Given the description of an element on the screen output the (x, y) to click on. 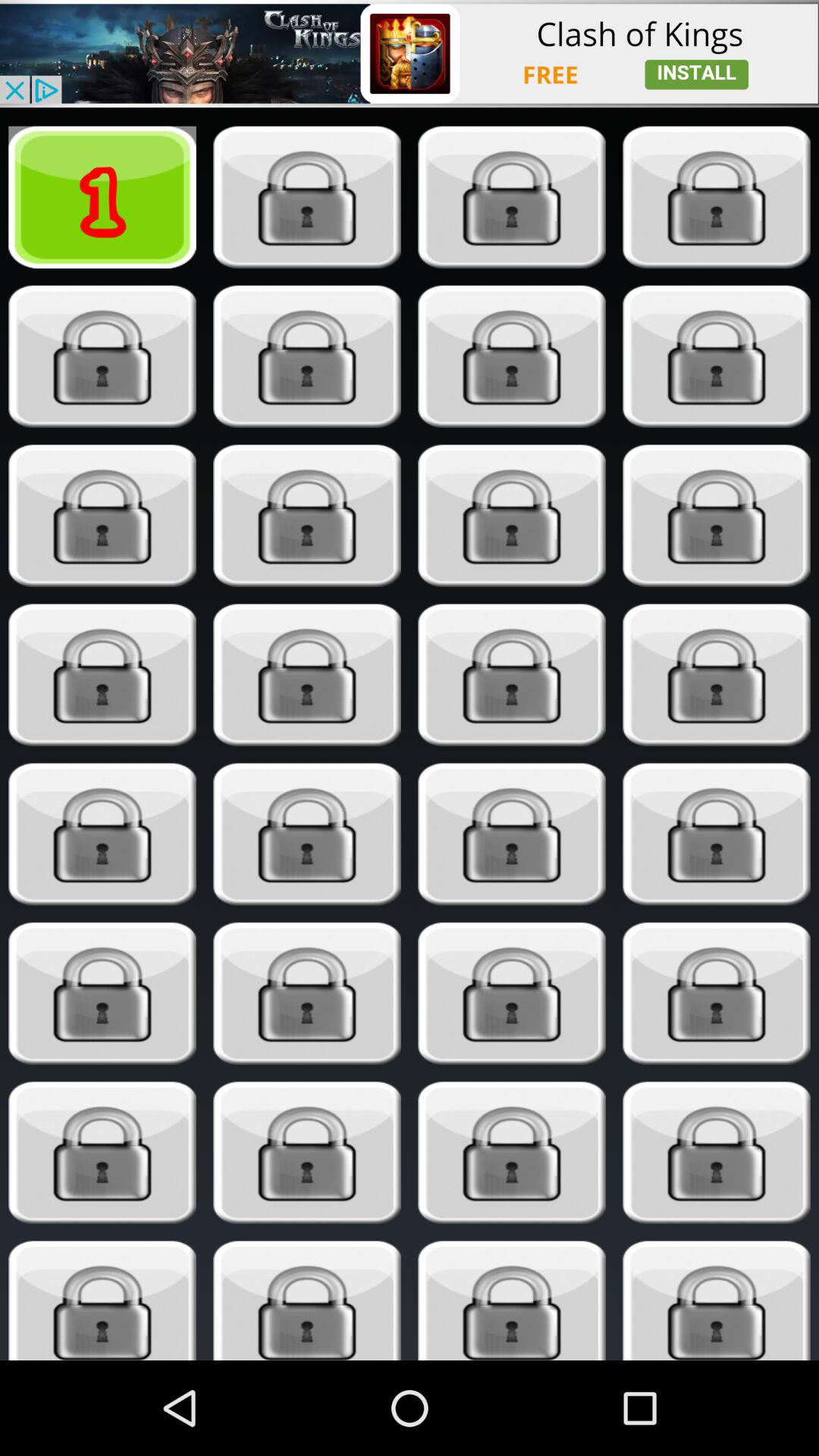
level locked (102, 356)
